Given the description of an element on the screen output the (x, y) to click on. 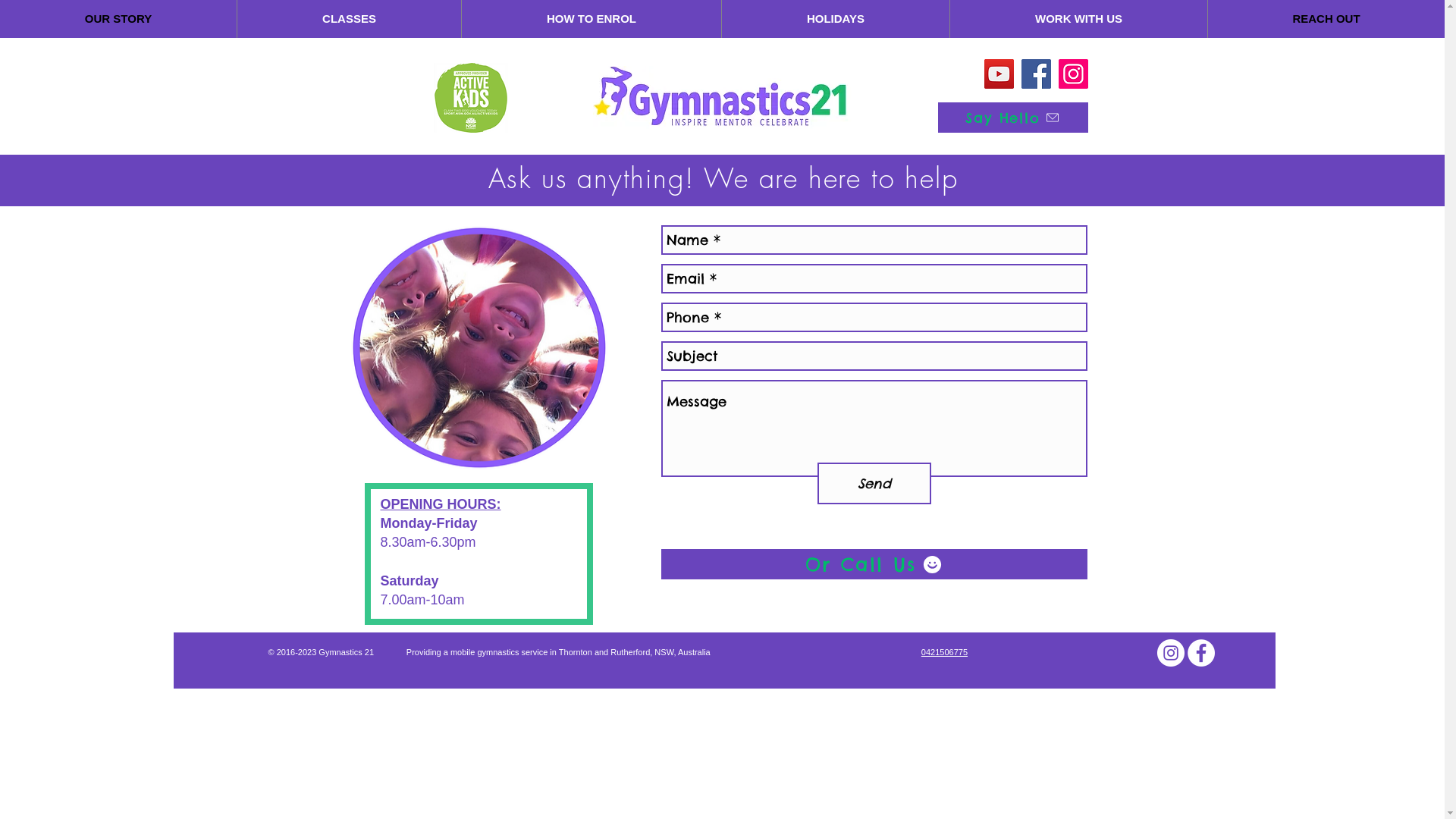
Send Element type: text (874, 483)
0421506775 Element type: text (944, 651)
Say Hello Element type: text (1012, 117)
CLASSES Element type: text (348, 18)
HOW TO ENROL Element type: text (591, 18)
OUR STORY Element type: text (118, 18)
WORK WITH US Element type: text (1078, 18)
REACH OUT Element type: text (1325, 18)
HOLIDAYS Element type: text (835, 18)
Or Call Us Element type: text (874, 564)
